Given the description of an element on the screen output the (x, y) to click on. 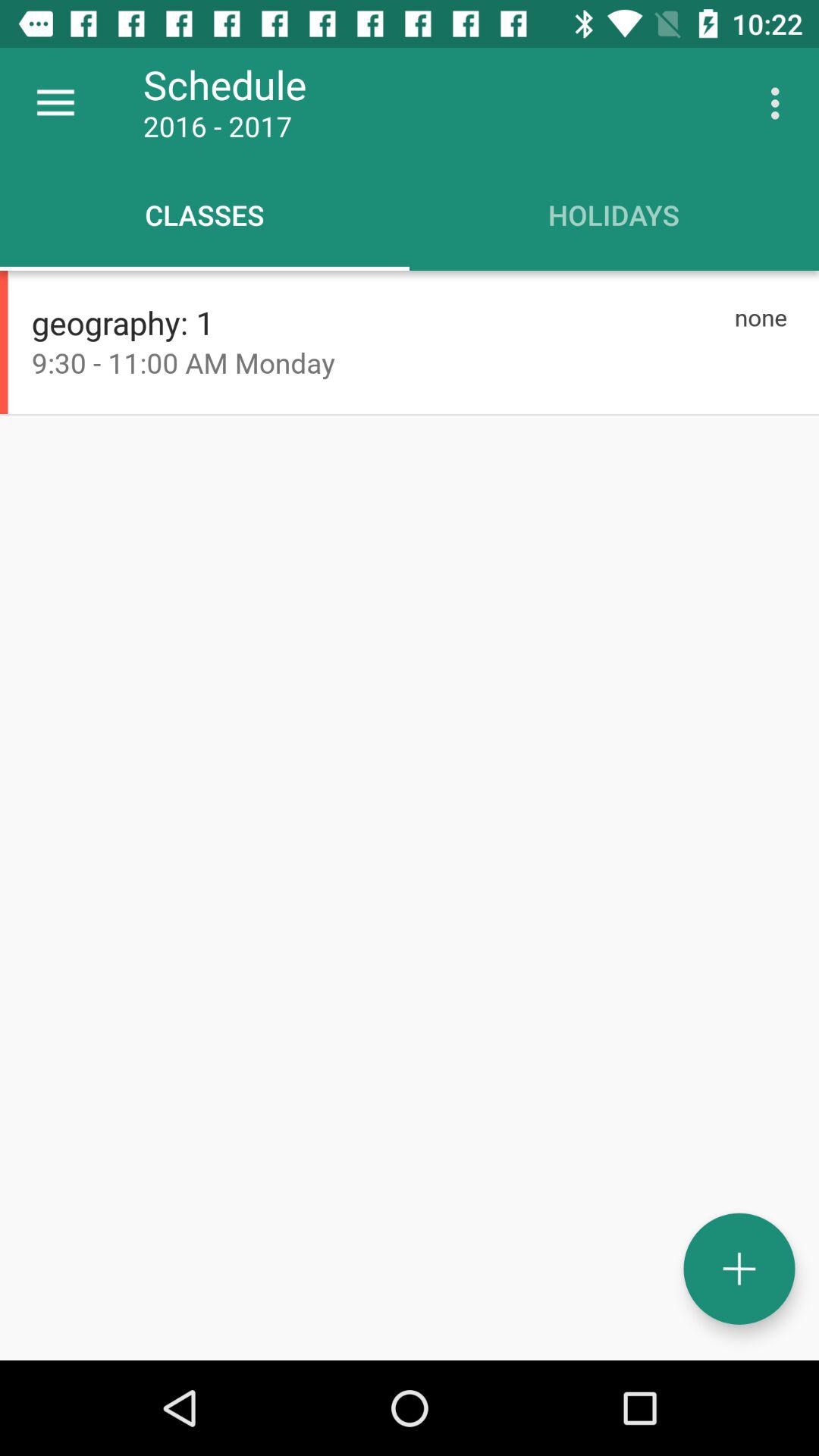
select item above none item (779, 103)
